Given the description of an element on the screen output the (x, y) to click on. 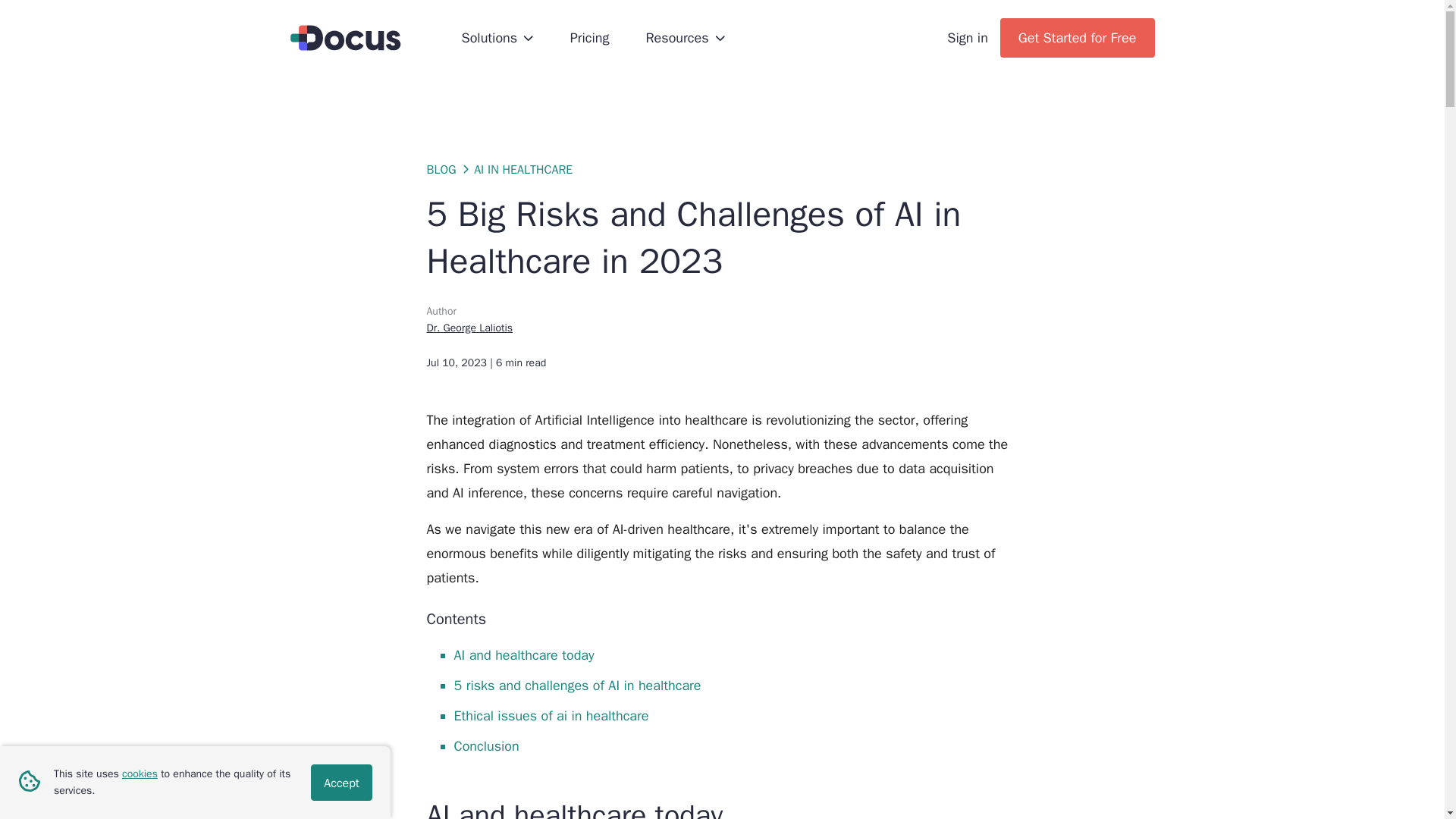
5 risks and challenges of AI in healthcare (576, 685)
AI and healthcare today (523, 655)
Ethical issues of ai in healthcare (549, 715)
Sign in (967, 37)
Resources (685, 37)
BLOG (440, 169)
Get Started for Free (1077, 37)
Conclusion (485, 745)
Dr. George Laliotis (469, 328)
Pricing (590, 37)
